Given the description of an element on the screen output the (x, y) to click on. 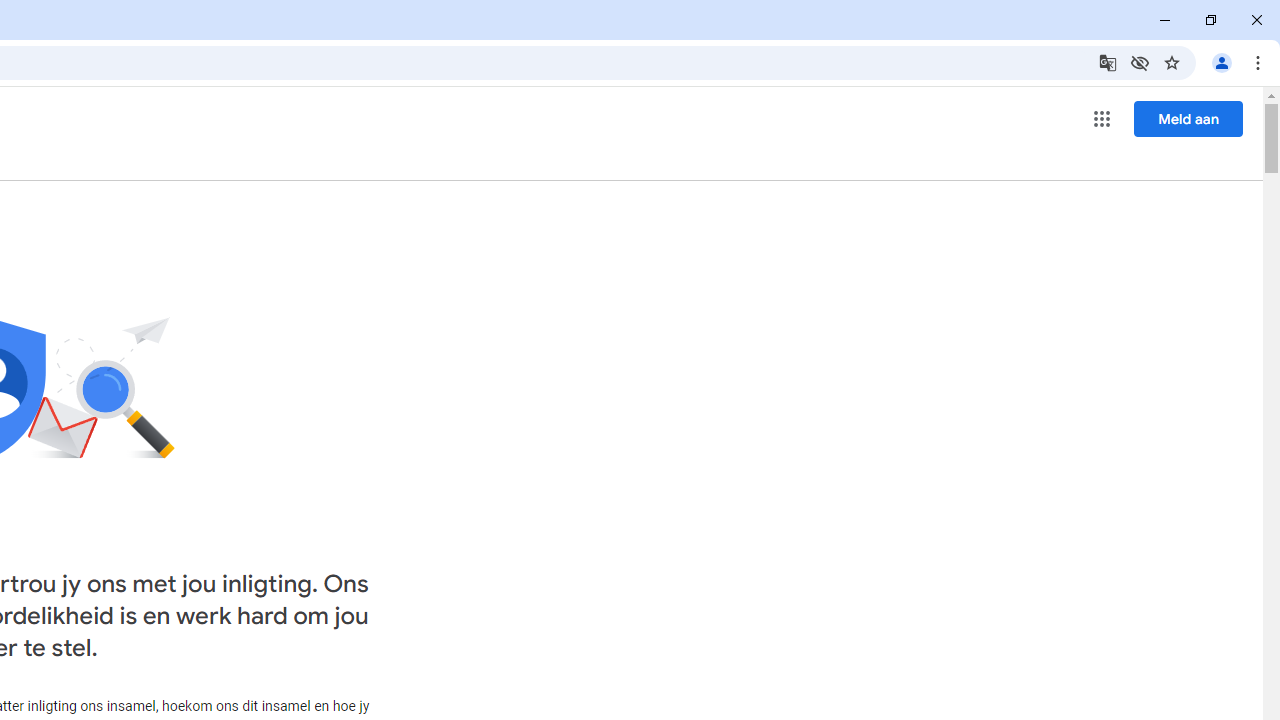
Post comment (Ctrl + Enter) (1083, 491)
Reading speed (85, 356)
Insert Table of Authorities... (453, 126)
New comment (806, 315)
Filter (1181, 315)
Sign in (1012, 32)
Mark Entry... (44, 161)
Insert Index... (149, 126)
